Given the description of an element on the screen output the (x, y) to click on. 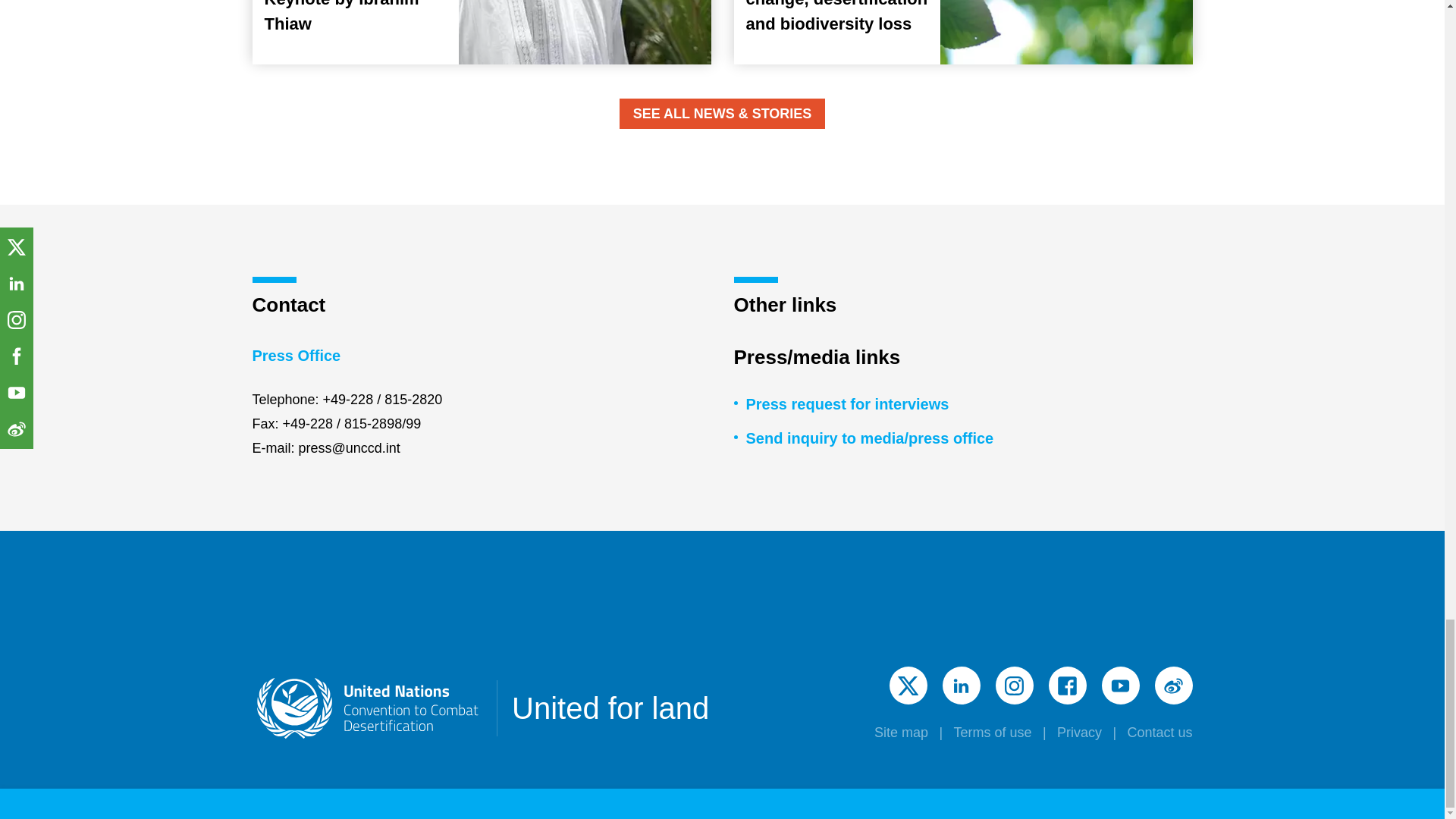
UNCCD (367, 707)
